Given the description of an element on the screen output the (x, y) to click on. 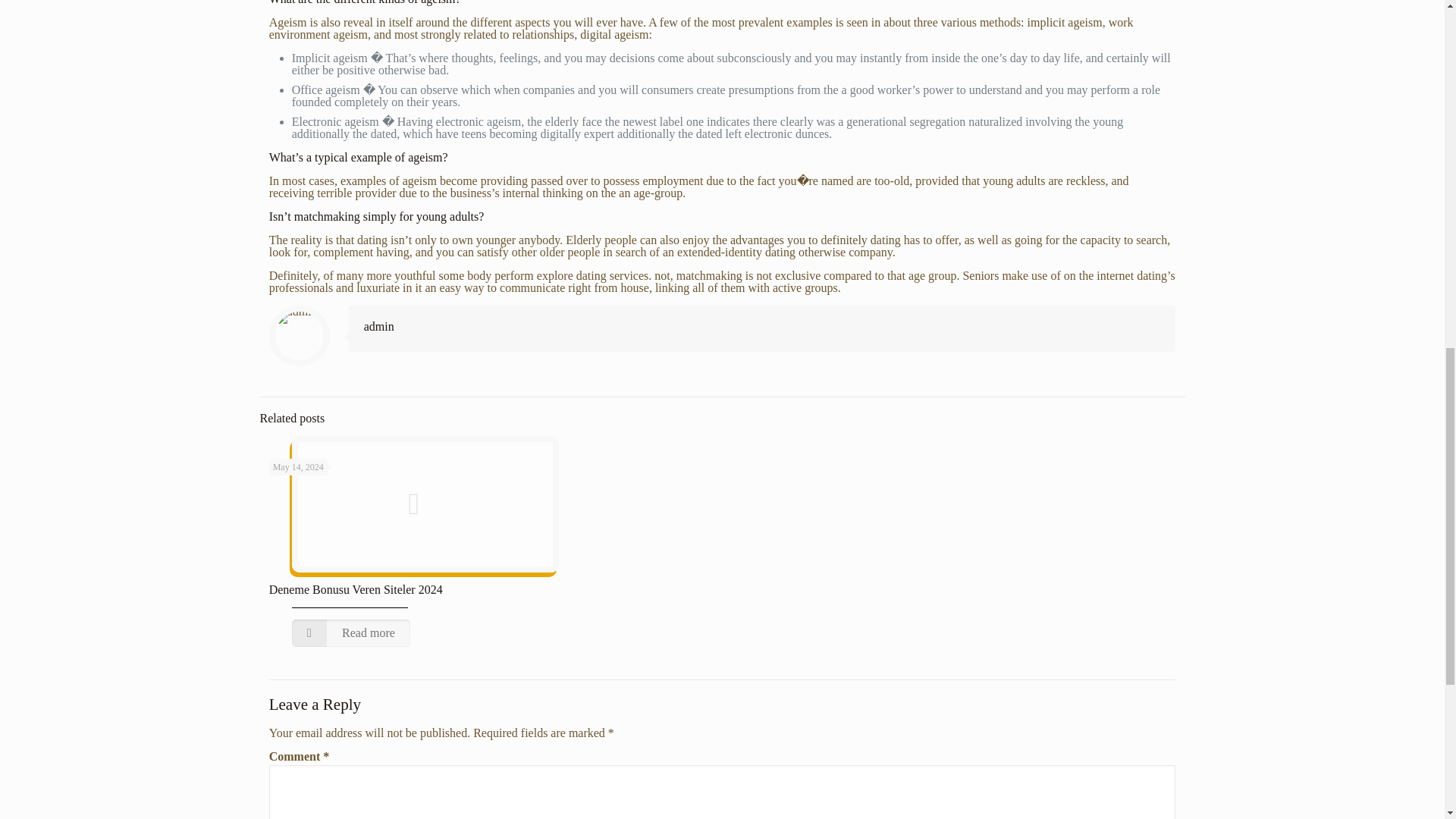
Deneme Bonusu Veren Siteler 2024 (355, 589)
Read more (351, 633)
admin (379, 326)
